Given the description of an element on the screen output the (x, y) to click on. 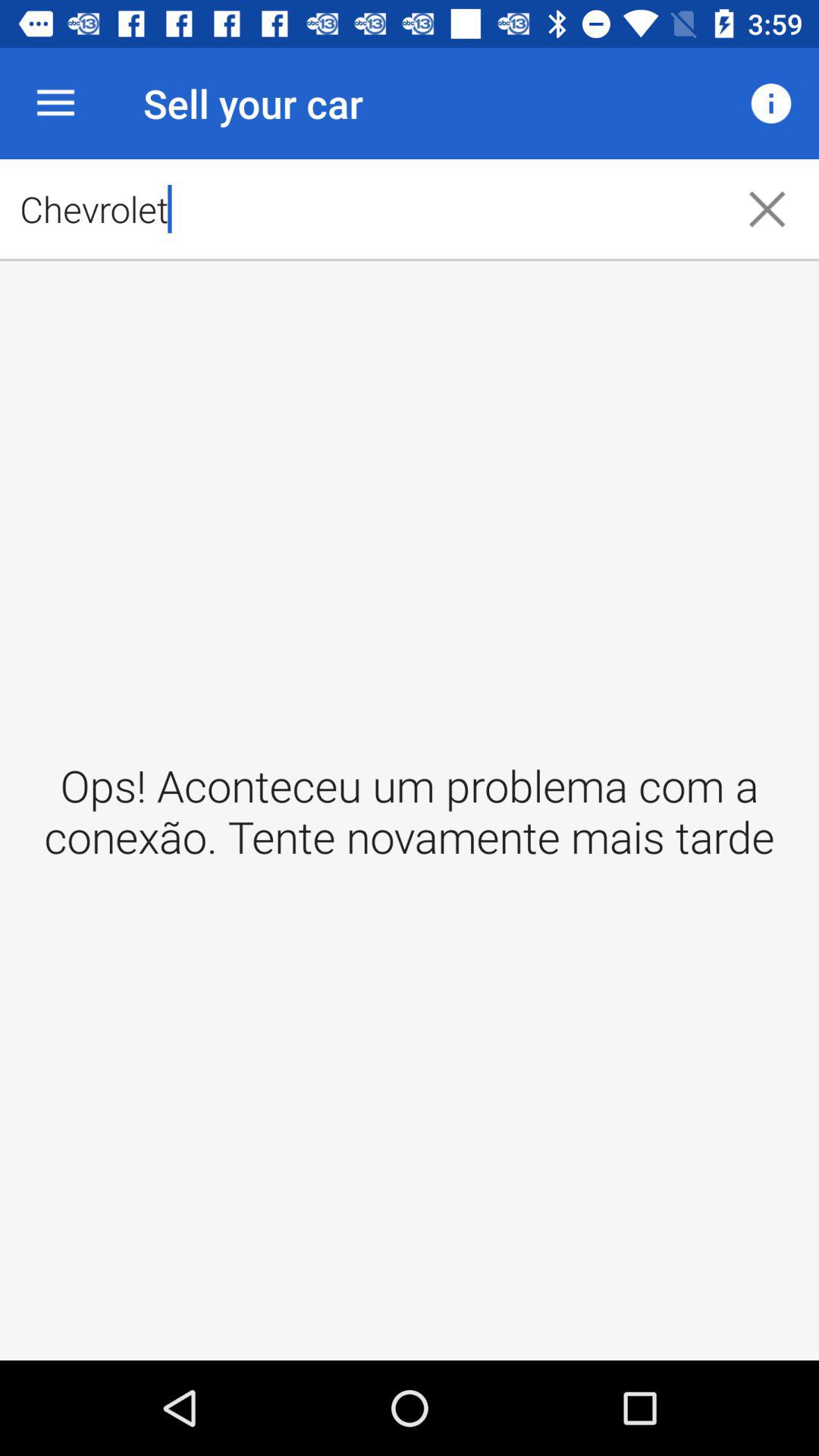
turn on the item next to sell your car item (55, 103)
